Given the description of an element on the screen output the (x, y) to click on. 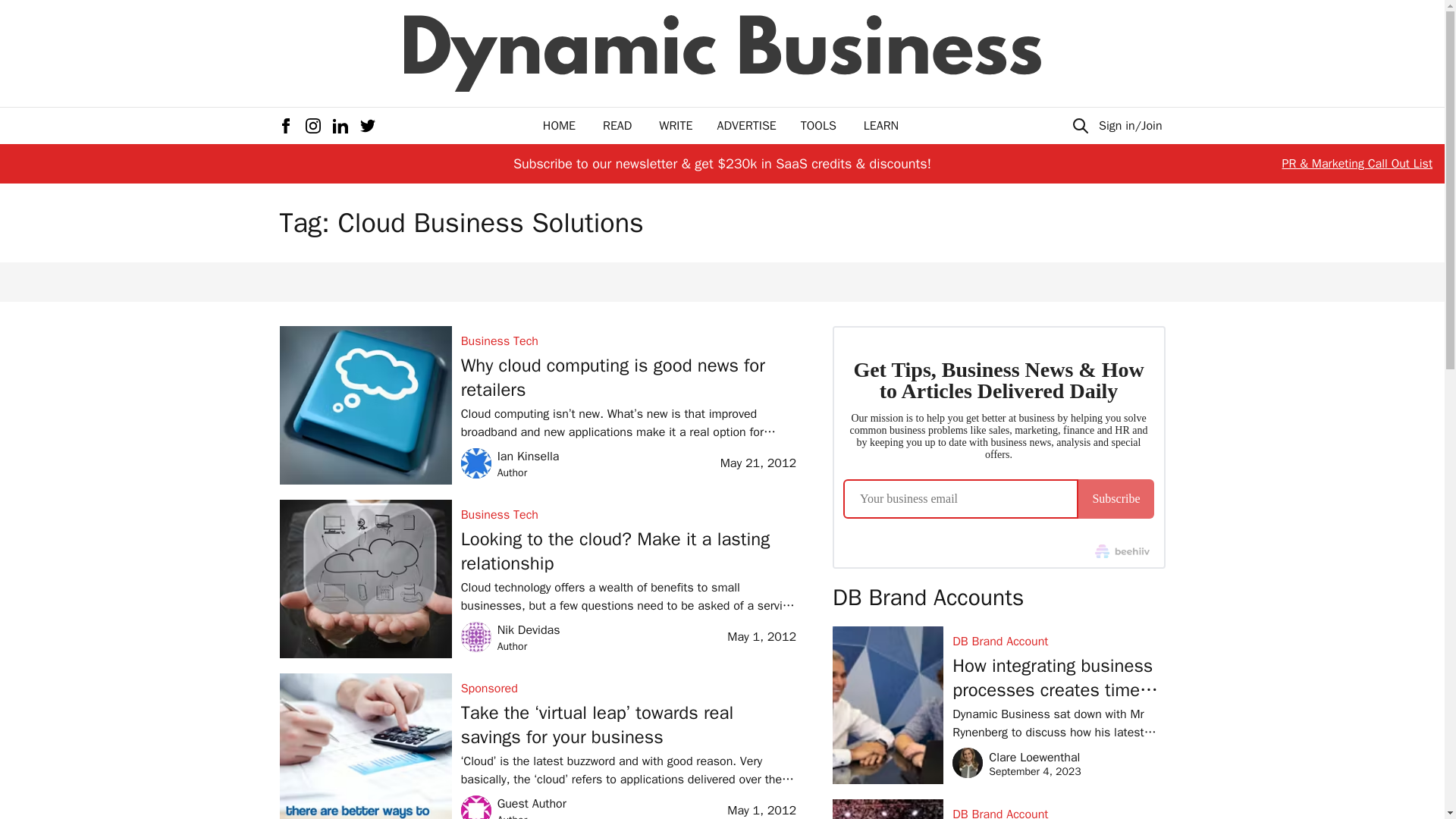
Why cloud computing is good news for retailers (628, 377)
LEARN (880, 126)
ADVERTISE (746, 126)
HOME (559, 126)
READ (616, 126)
Business Tech (628, 341)
Looking to the cloud? Make it a lasting relationship (510, 635)
WRITE (628, 551)
Business Tech (676, 126)
